Given the description of an element on the screen output the (x, y) to click on. 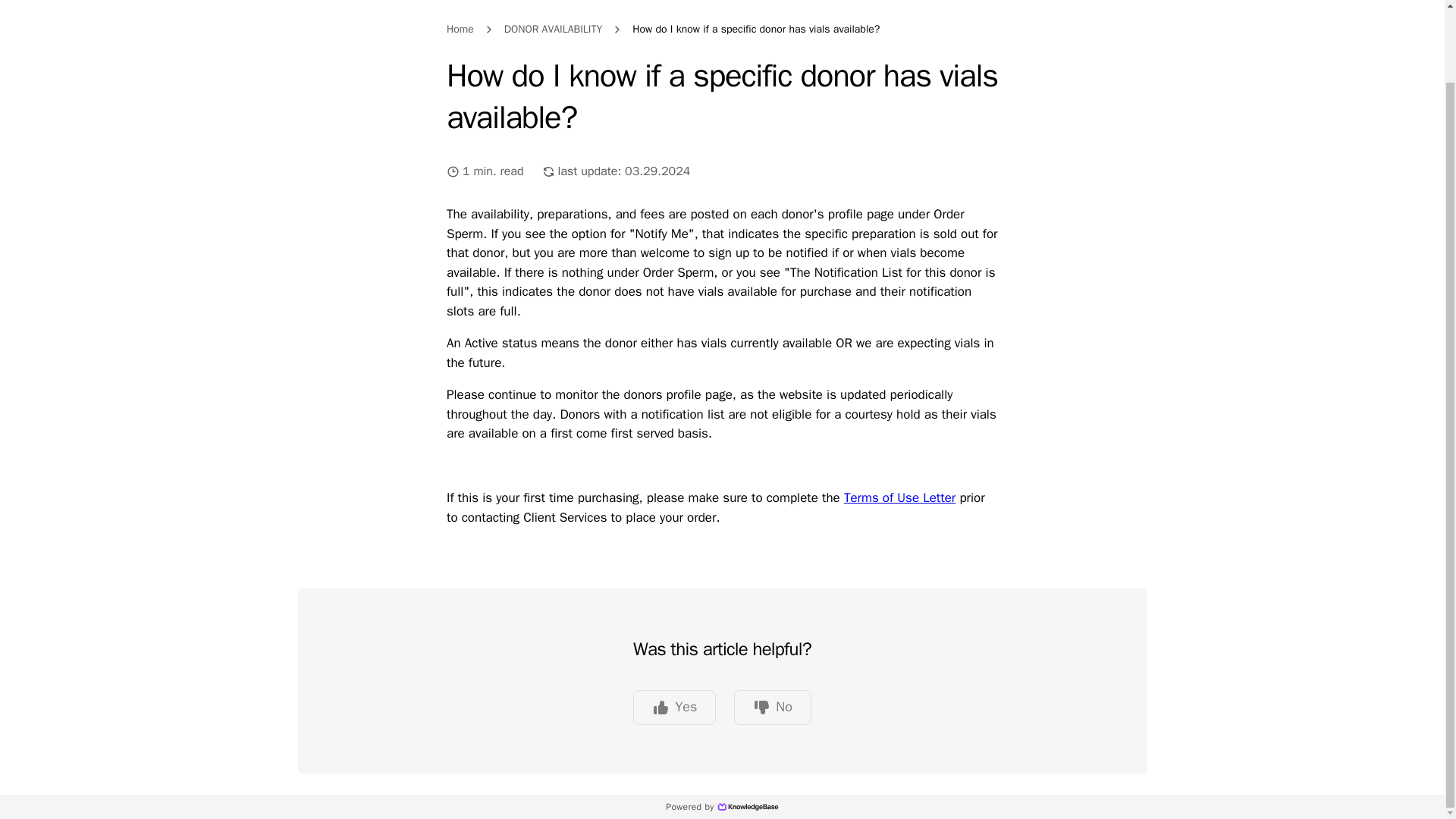
DONOR AVAILABILITY (552, 28)
Yes (674, 707)
Home (460, 28)
No (771, 707)
Terms of Use Letter (899, 497)
